Given the description of an element on the screen output the (x, y) to click on. 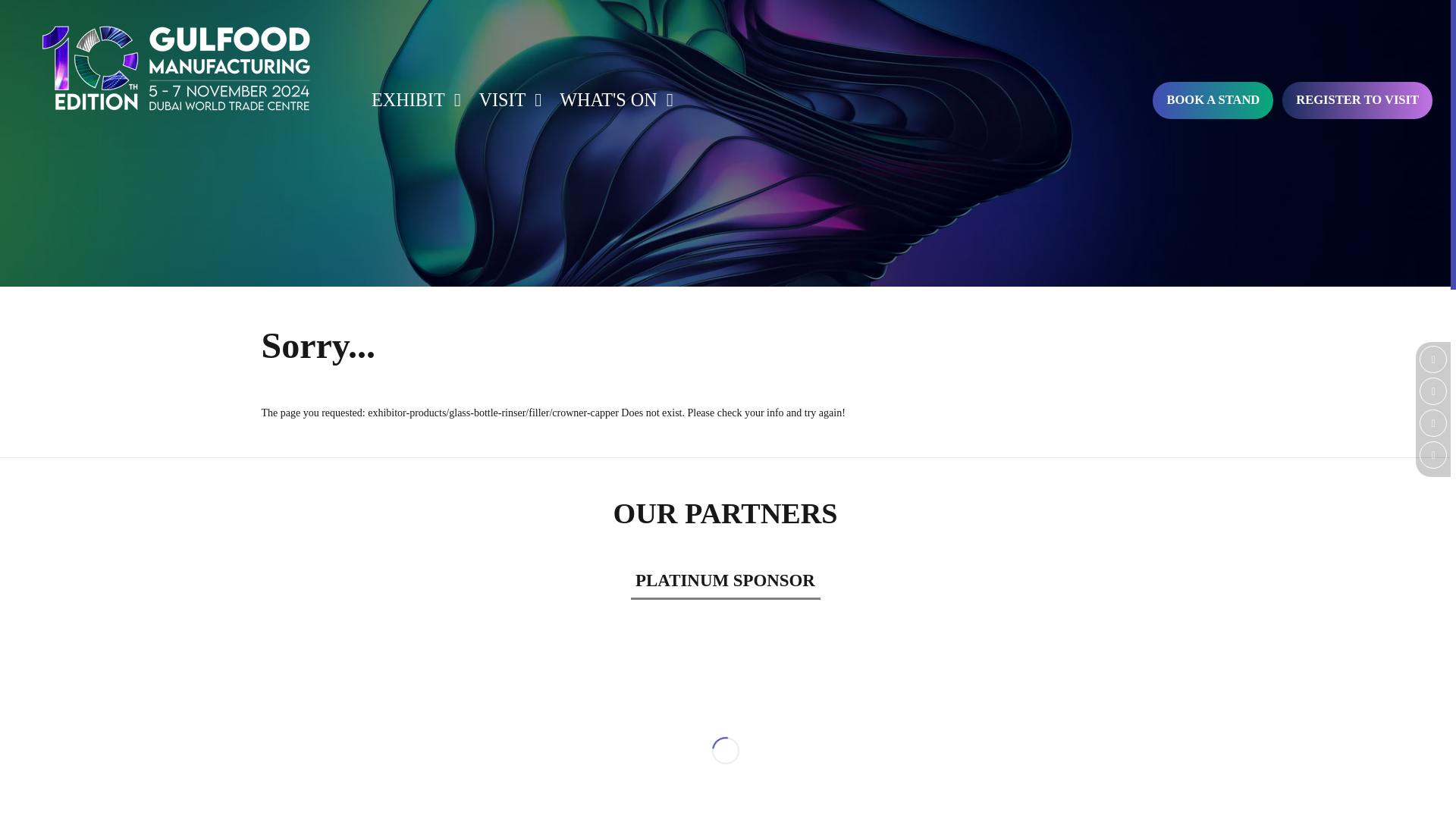
VISIT (505, 100)
REGISTER TO VISIT (1357, 99)
BOOK A STAND (1212, 99)
EXHIBIT (411, 100)
